Given the description of an element on the screen output the (x, y) to click on. 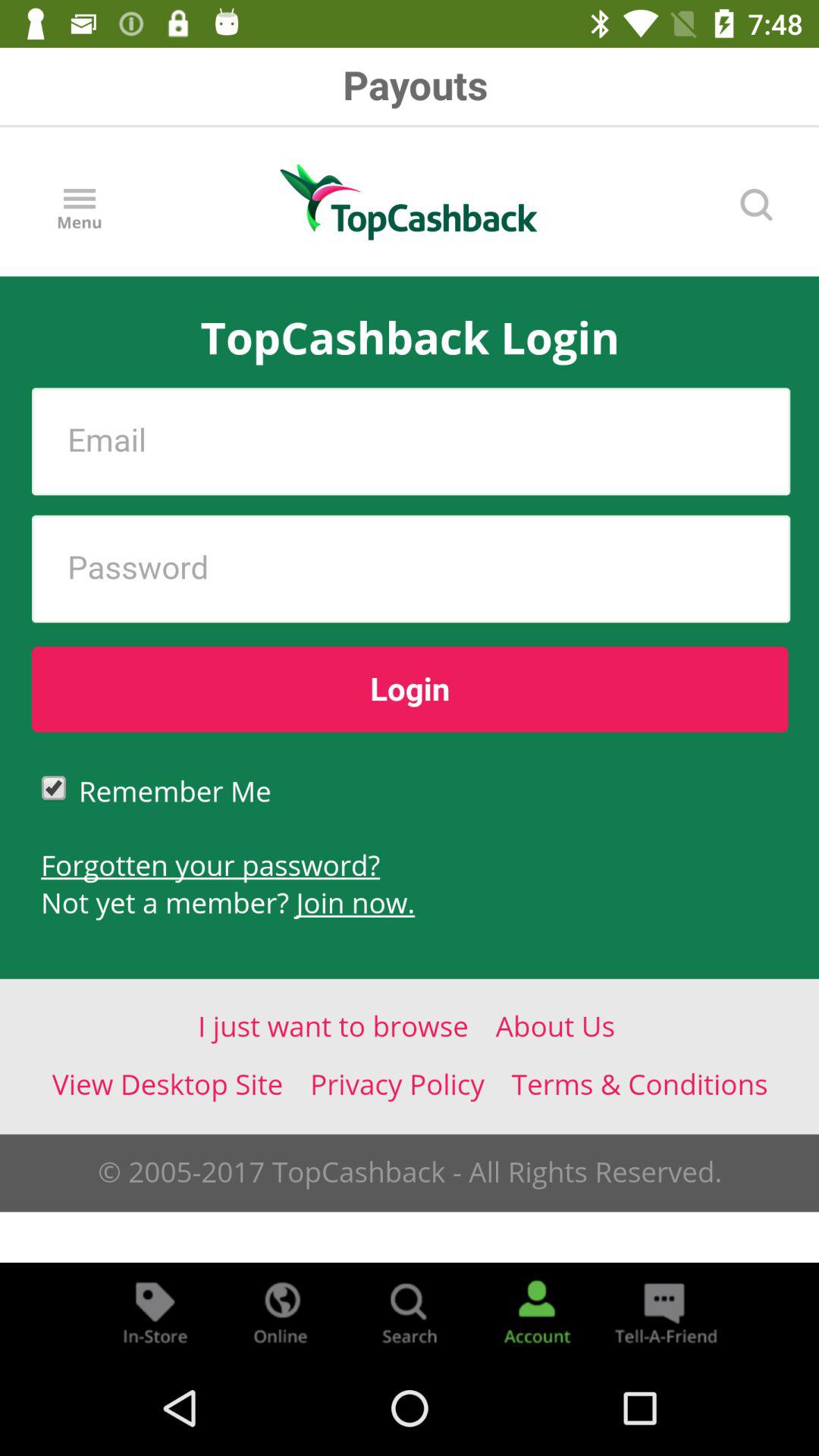
tell a friend (664, 1311)
